Given the description of an element on the screen output the (x, y) to click on. 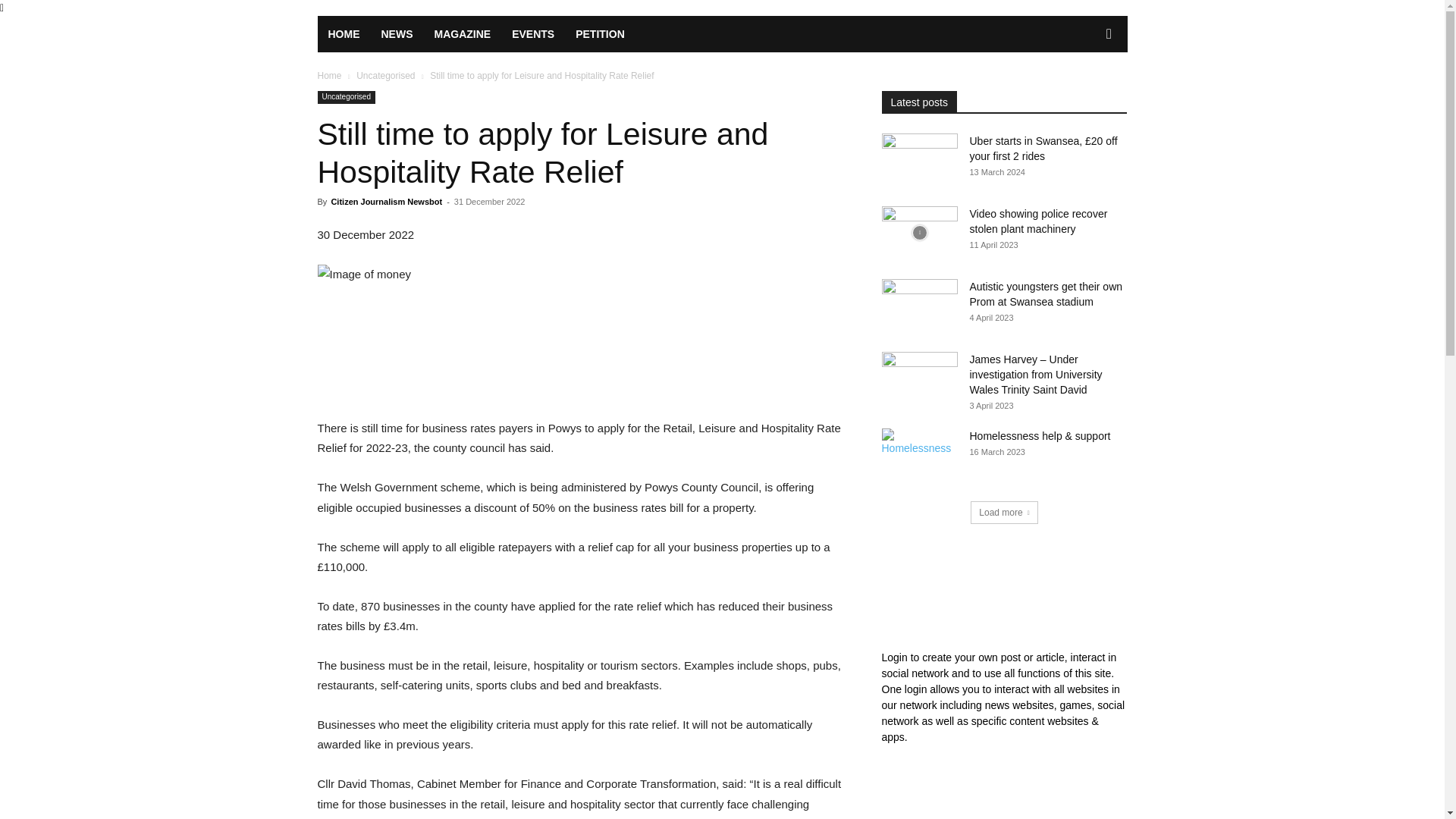
Uncategorised (385, 75)
Uncategorised (345, 97)
EVENTS (532, 33)
View all posts in Uncategorised (385, 75)
Autistic youngsters get their own Prom at Swansea stadium (918, 305)
PETITION (599, 33)
Video showing police recover stolen plant machinery (1037, 221)
NEWS (396, 33)
HOME (343, 33)
Video showing police recover stolen plant machinery (918, 232)
Search (1085, 94)
MAGAZINE (461, 33)
Home (328, 75)
